Given the description of an element on the screen output the (x, y) to click on. 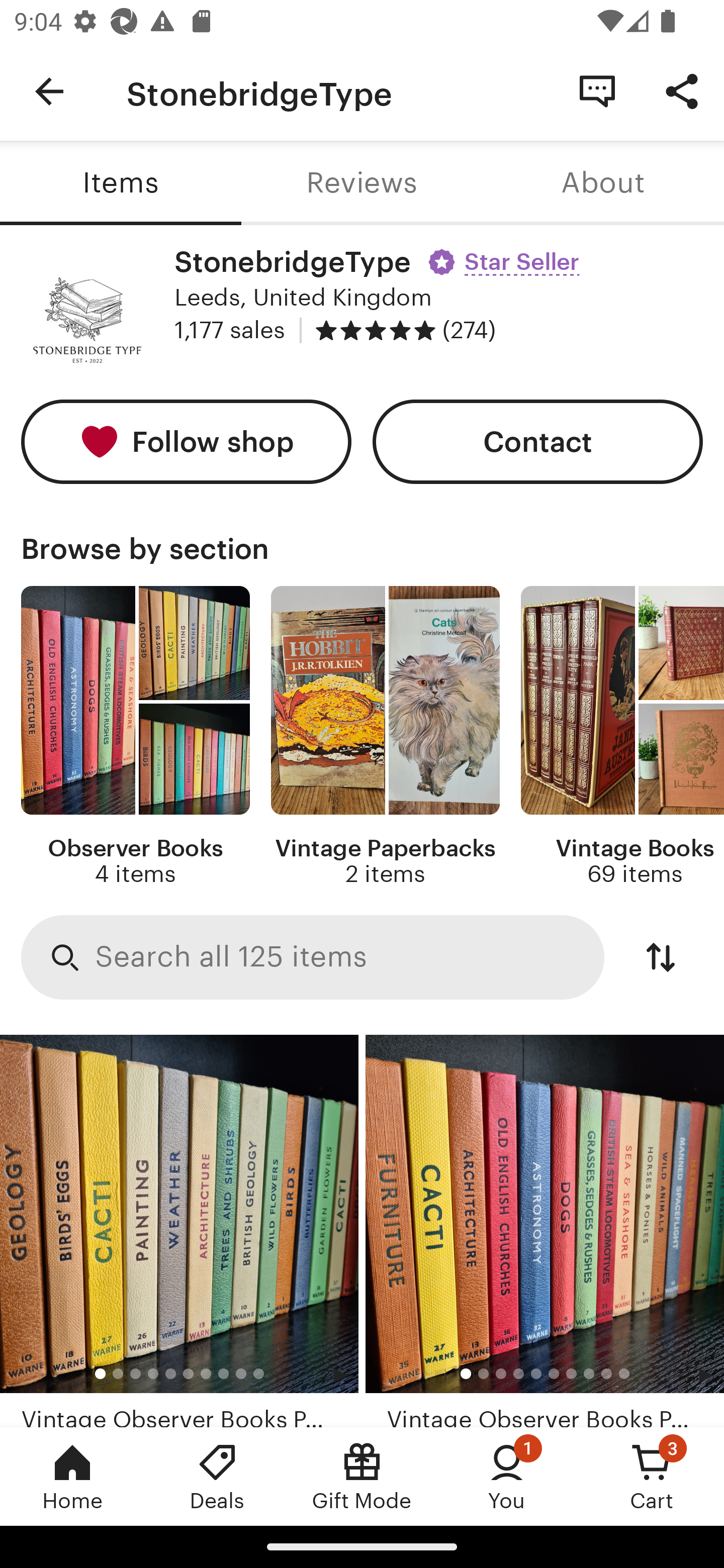
Navigate up (49, 91)
Contact Shop (597, 90)
Share (681, 90)
Reviews (361, 183)
About (603, 183)
Star Seller (506, 255)
Follow shop (185, 441)
Contact (537, 441)
Observer Books 4 items (134, 736)
Vintage Paperbacks 2 items (384, 736)
Vintage Books 69 items (622, 736)
Search Search all 125 items (312, 957)
Deals (216, 1475)
Gift Mode (361, 1475)
You, 1 new notification You (506, 1475)
Cart, 3 new notifications Cart (651, 1475)
